Given the description of an element on the screen output the (x, y) to click on. 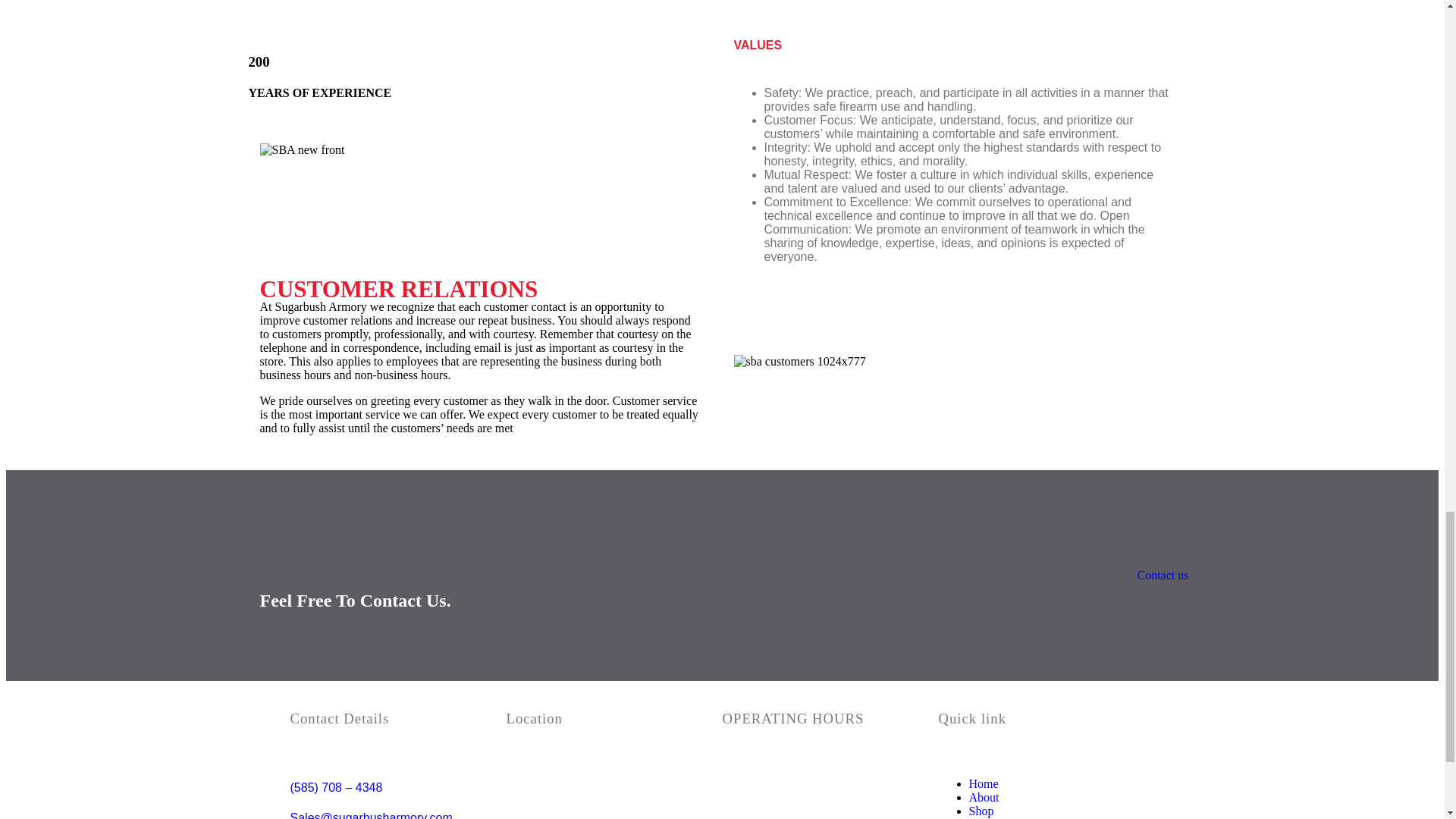
Contact us (1162, 574)
